Given the description of an element on the screen output the (x, y) to click on. 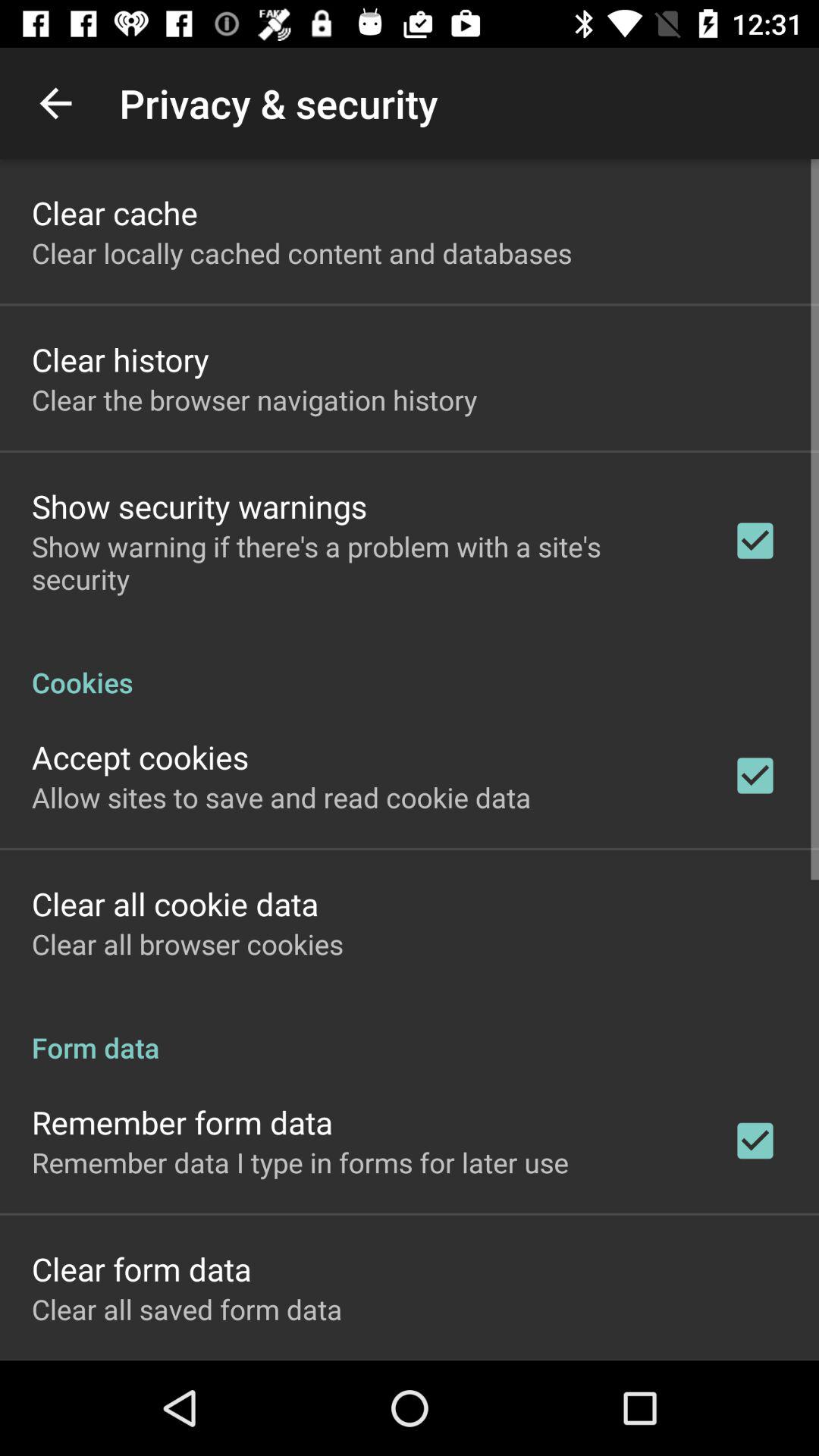
choose show warning if icon (361, 562)
